Given the description of an element on the screen output the (x, y) to click on. 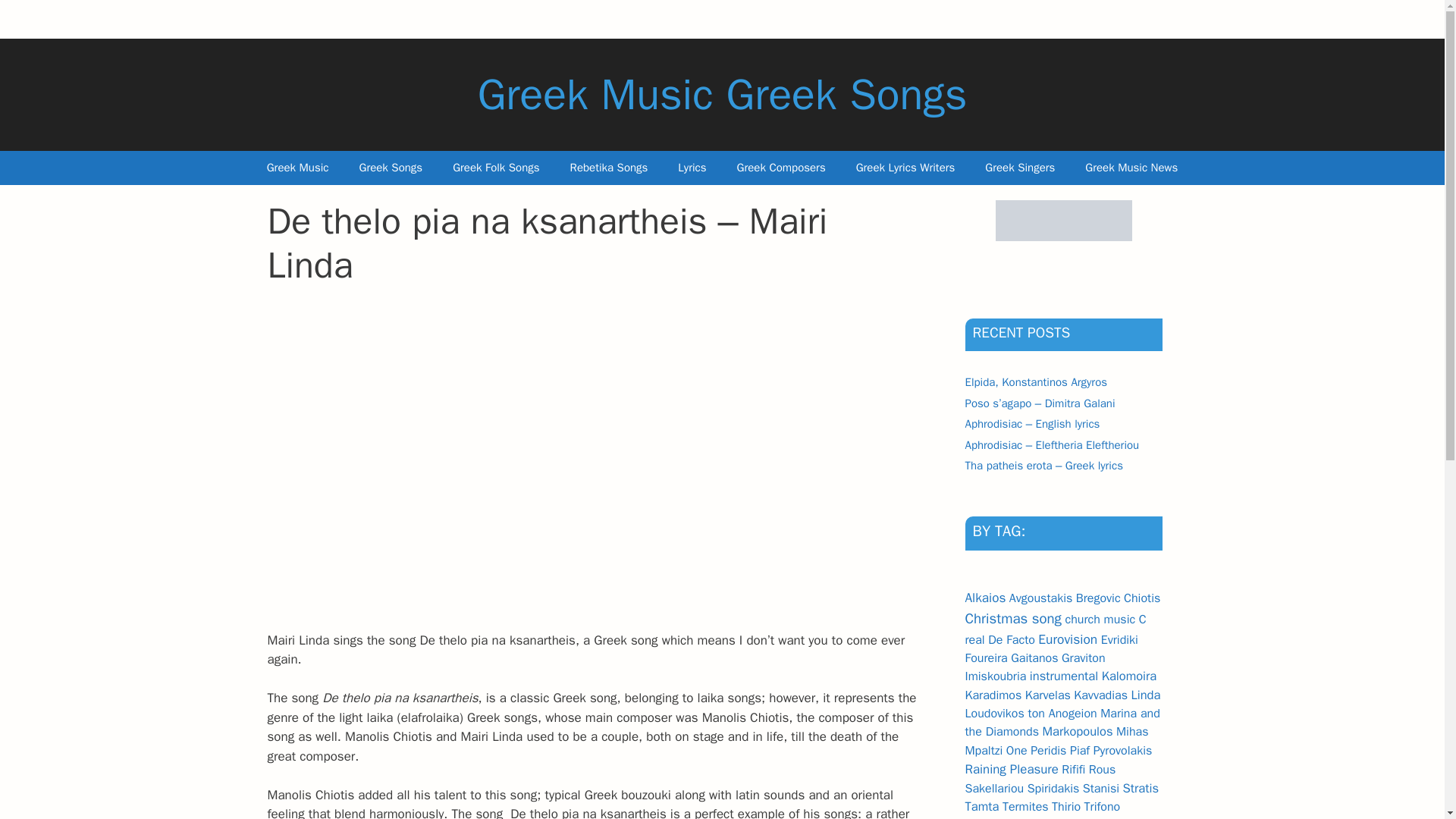
Alkaios (984, 597)
Greek Lyrics Writers (906, 167)
Bregovic (1098, 598)
Avgoustakis (1040, 598)
Elpida, Konstantinos Argyros (1034, 382)
Christmas song (1012, 618)
Greek Songs (390, 167)
Greek Music News (1131, 167)
Rebetika Songs (608, 167)
Greek Music Greek Songs (722, 94)
Greek Composers (781, 167)
Chiotis (1142, 598)
Greek Singers (1019, 167)
Lyrics (691, 167)
Greek Music (297, 167)
